Given the description of an element on the screen output the (x, y) to click on. 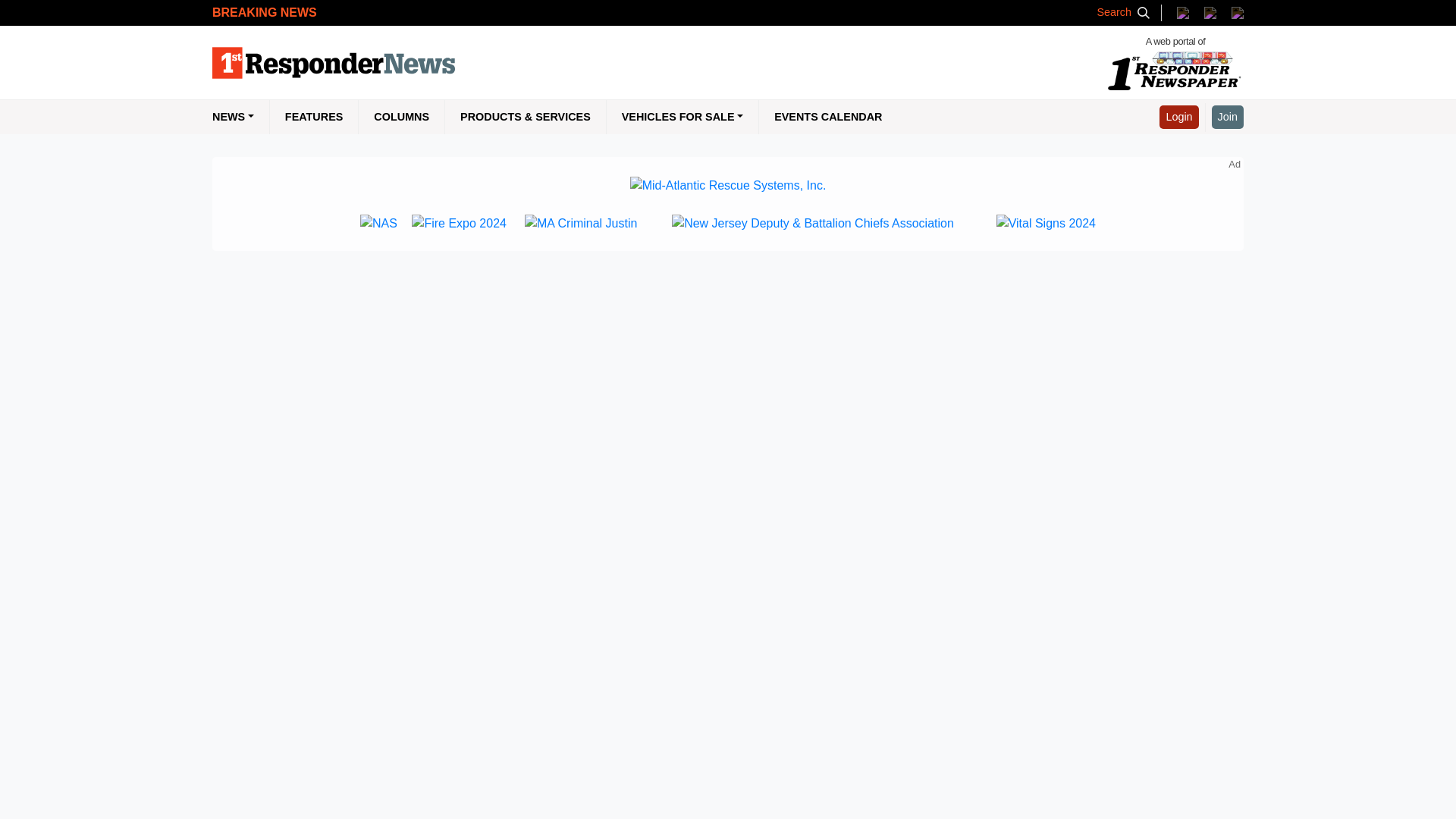
NEWS (240, 117)
A web portal of (1174, 62)
Vehicles For Sale (682, 117)
1st Responsder News Logo (333, 62)
1st Responsder Newspaper Logo (1174, 62)
Events Calendar (827, 117)
Join (1227, 117)
Features (313, 117)
NEWS (240, 117)
COLUMNS (401, 117)
